Given the description of an element on the screen output the (x, y) to click on. 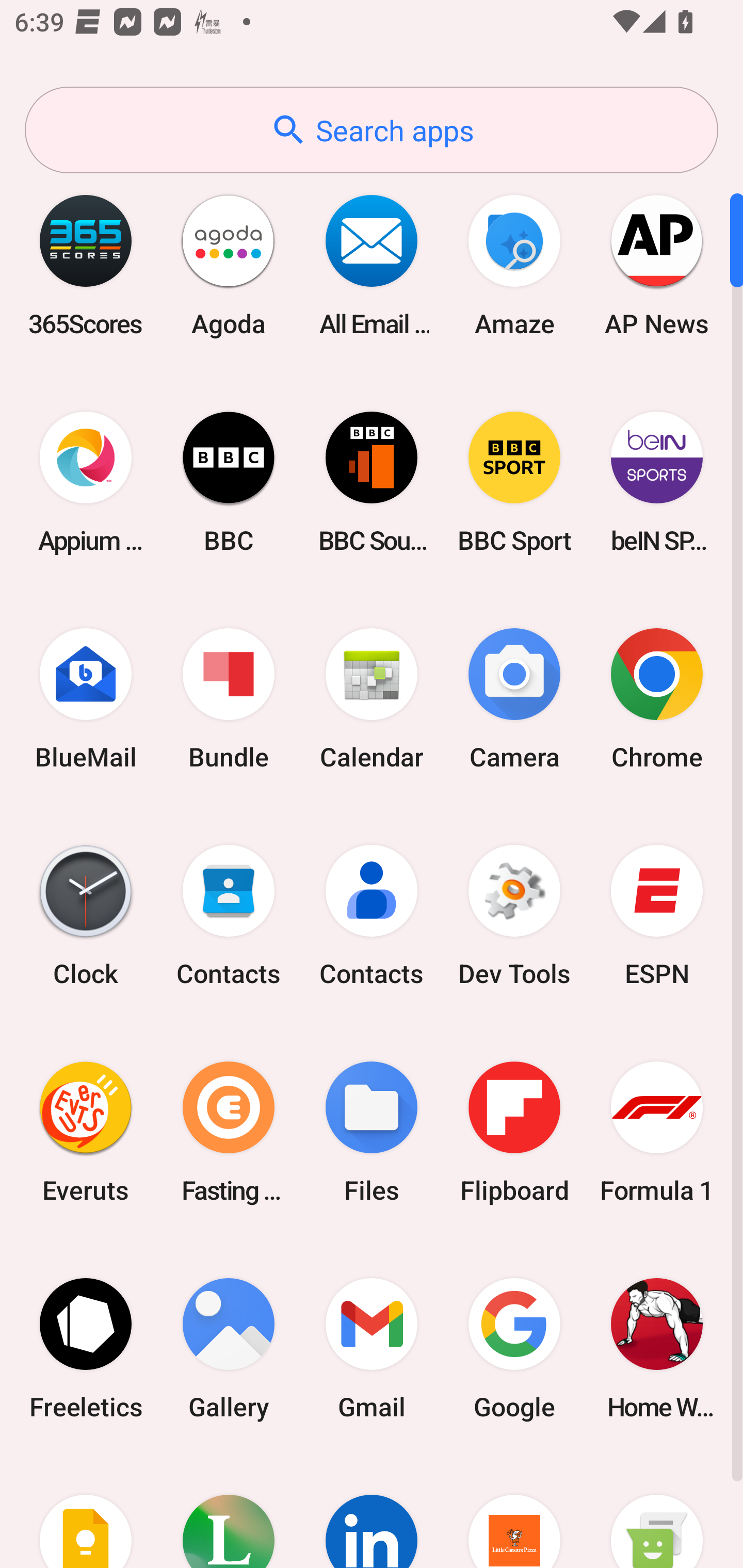
  Search apps (371, 130)
365Scores (85, 264)
Agoda (228, 264)
All Email Connect (371, 264)
Amaze (514, 264)
AP News (656, 264)
Appium Settings (85, 482)
BBC (228, 482)
BBC Sounds (371, 482)
BBC Sport (514, 482)
beIN SPORTS (656, 482)
BlueMail (85, 699)
Bundle (228, 699)
Calendar (371, 699)
Camera (514, 699)
Chrome (656, 699)
Clock (85, 915)
Contacts (228, 915)
Contacts (371, 915)
Dev Tools (514, 915)
ESPN (656, 915)
Everuts (85, 1131)
Fasting Coach (228, 1131)
Files (371, 1131)
Flipboard (514, 1131)
Formula 1 (656, 1131)
Freeletics (85, 1348)
Gallery (228, 1348)
Gmail (371, 1348)
Google (514, 1348)
Home Workout (656, 1348)
Keep Notes (85, 1512)
Lifesum (228, 1512)
LinkedIn (371, 1512)
Little Caesars Pizza (514, 1512)
Messaging (656, 1512)
